Given the description of an element on the screen output the (x, y) to click on. 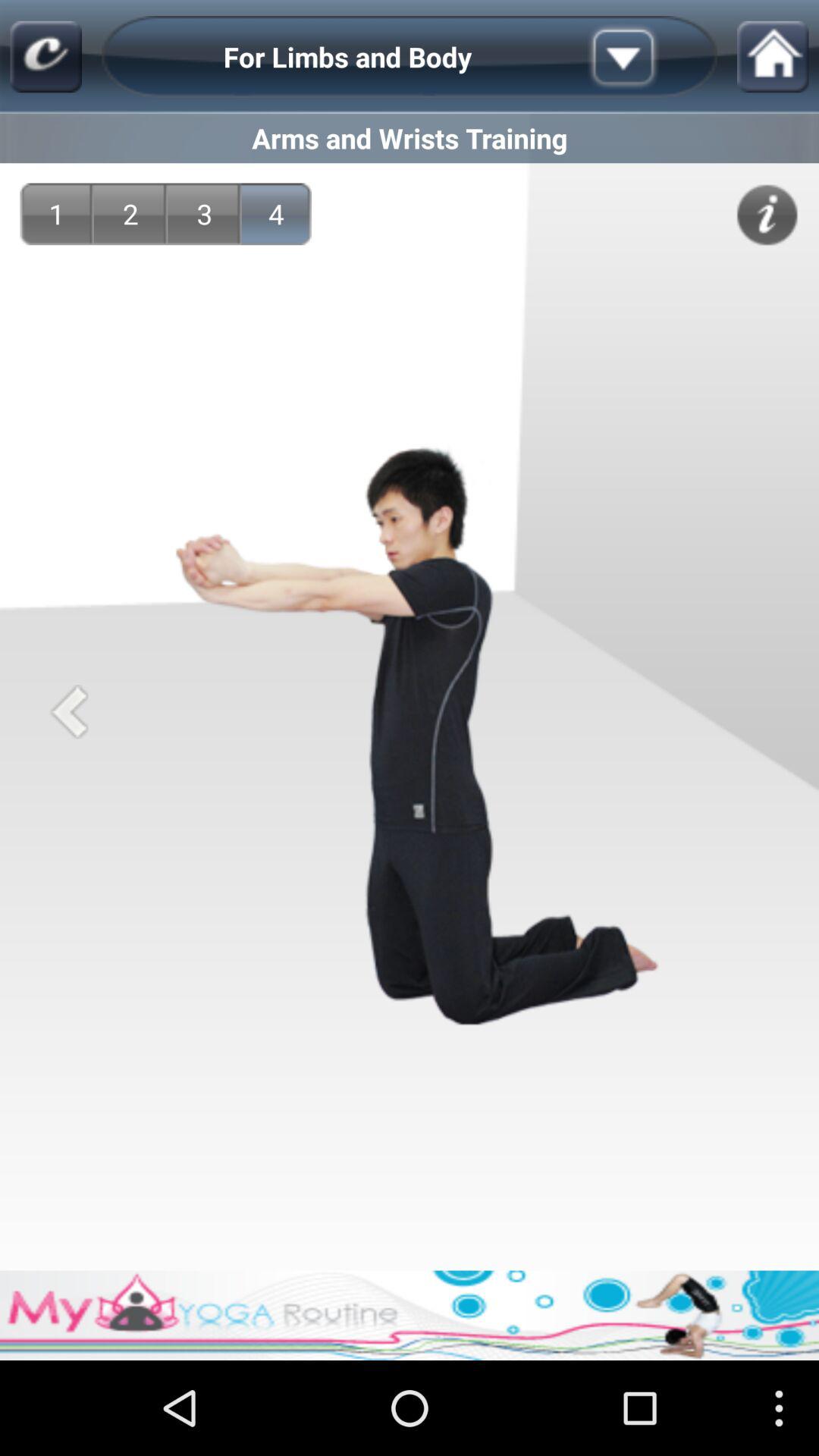
go previous (68, 711)
